Given the description of an element on the screen output the (x, y) to click on. 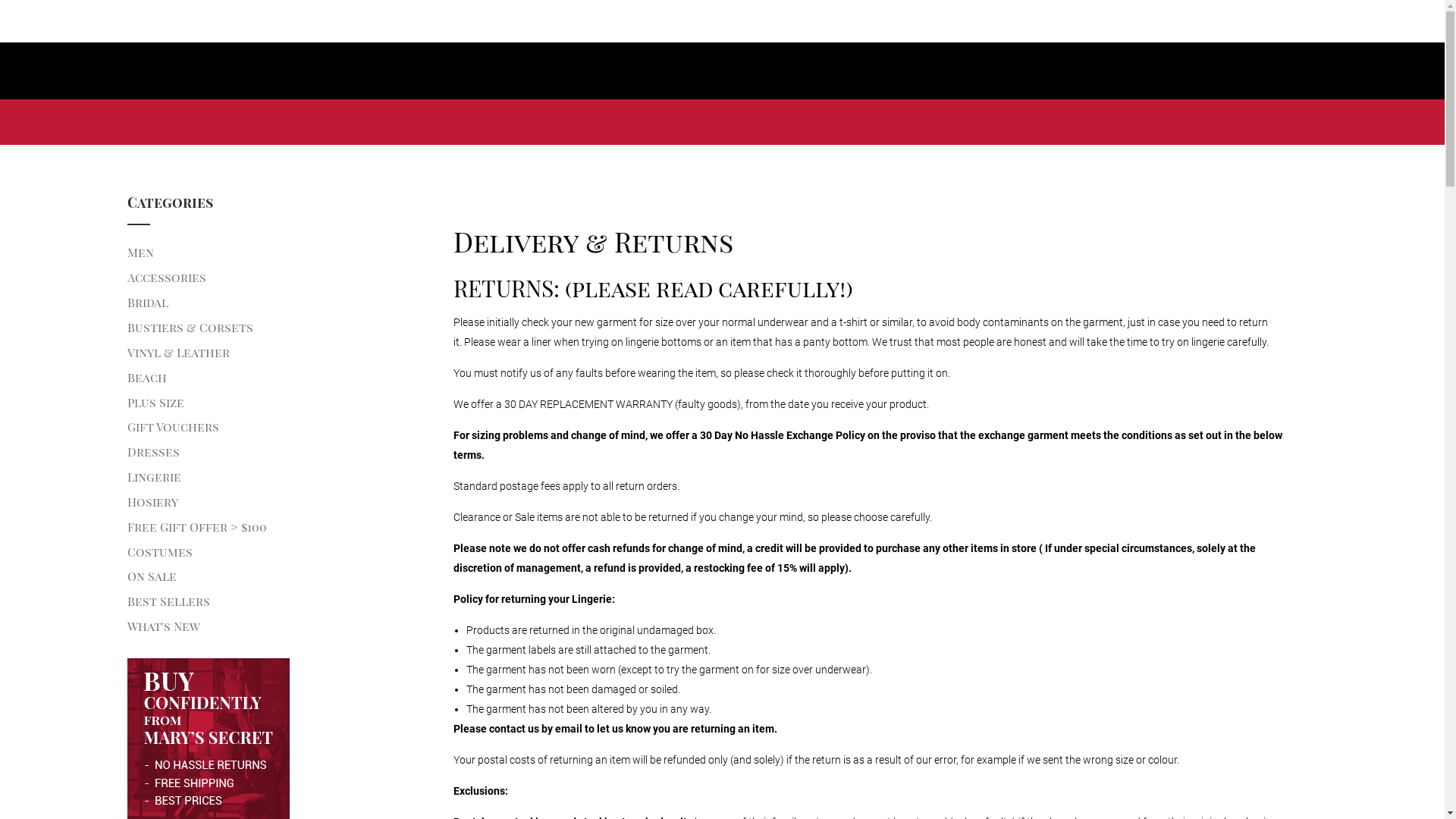
Bridal Element type: text (267, 302)
Best Sellers Element type: text (267, 601)
Dresses Element type: text (267, 451)
Costumes Element type: text (267, 551)
Plus Size Element type: text (267, 402)
Gift Vouchers Element type: text (267, 426)
Lingerie Element type: text (267, 476)
Beach Element type: text (267, 377)
Bustiers & Corsets Element type: text (267, 327)
Vinyl & Leather Element type: text (267, 352)
Men Element type: text (267, 252)
Hosiery Element type: text (267, 501)
On Sale Element type: text (267, 576)
Accessories Element type: text (267, 277)
What's New Element type: text (267, 626)
Free Gift Offer > $100 Element type: text (267, 526)
